Given the description of an element on the screen output the (x, y) to click on. 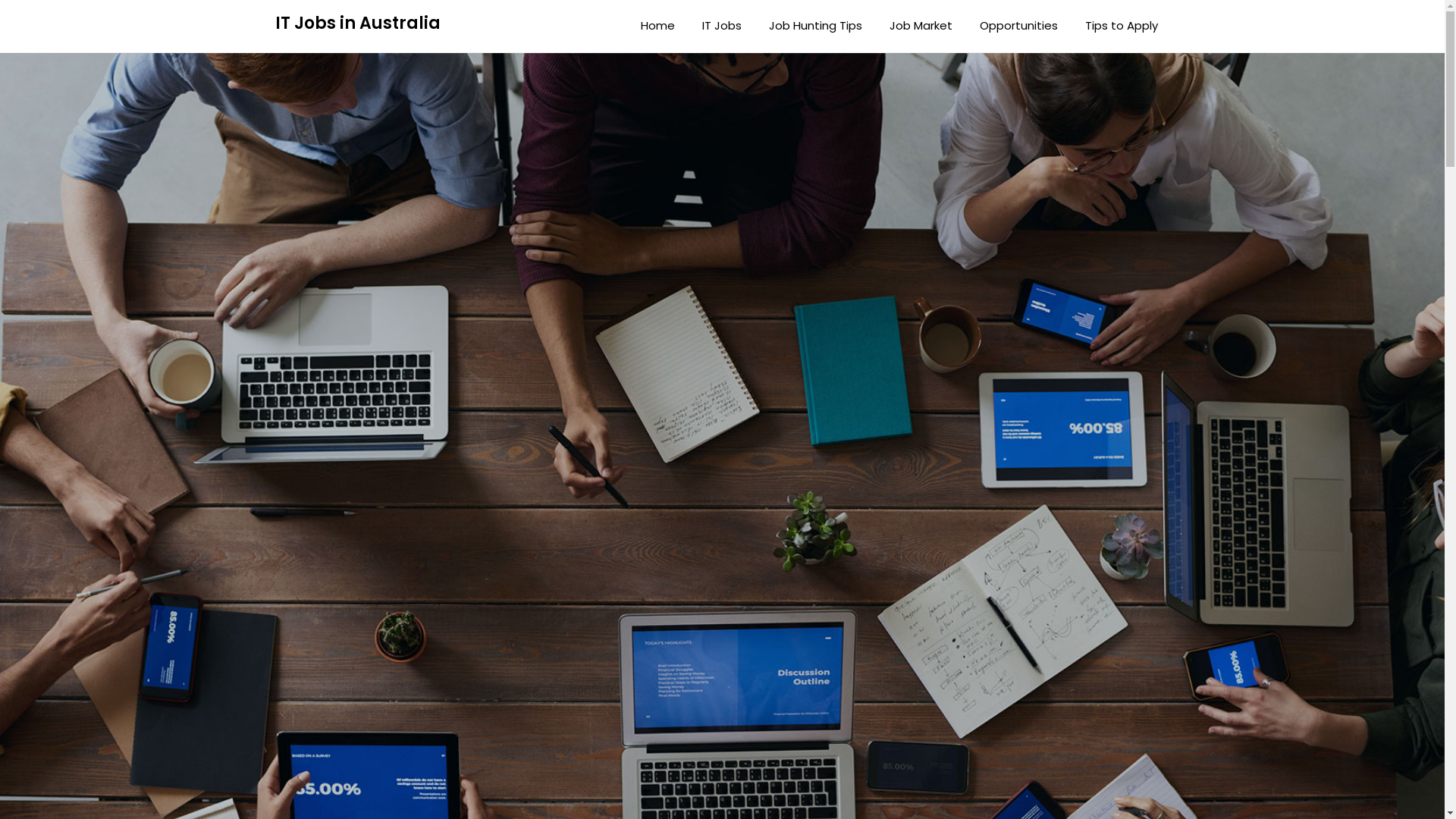
Job Market Element type: text (919, 26)
Home Element type: text (656, 26)
IT Jobs Element type: text (721, 26)
Tips to Apply Element type: text (1120, 26)
Opportunities Element type: text (1018, 26)
Search Element type: text (40, 21)
IT Jobs in Australia Element type: text (356, 23)
Job Hunting Tips Element type: text (815, 26)
